Given the description of an element on the screen output the (x, y) to click on. 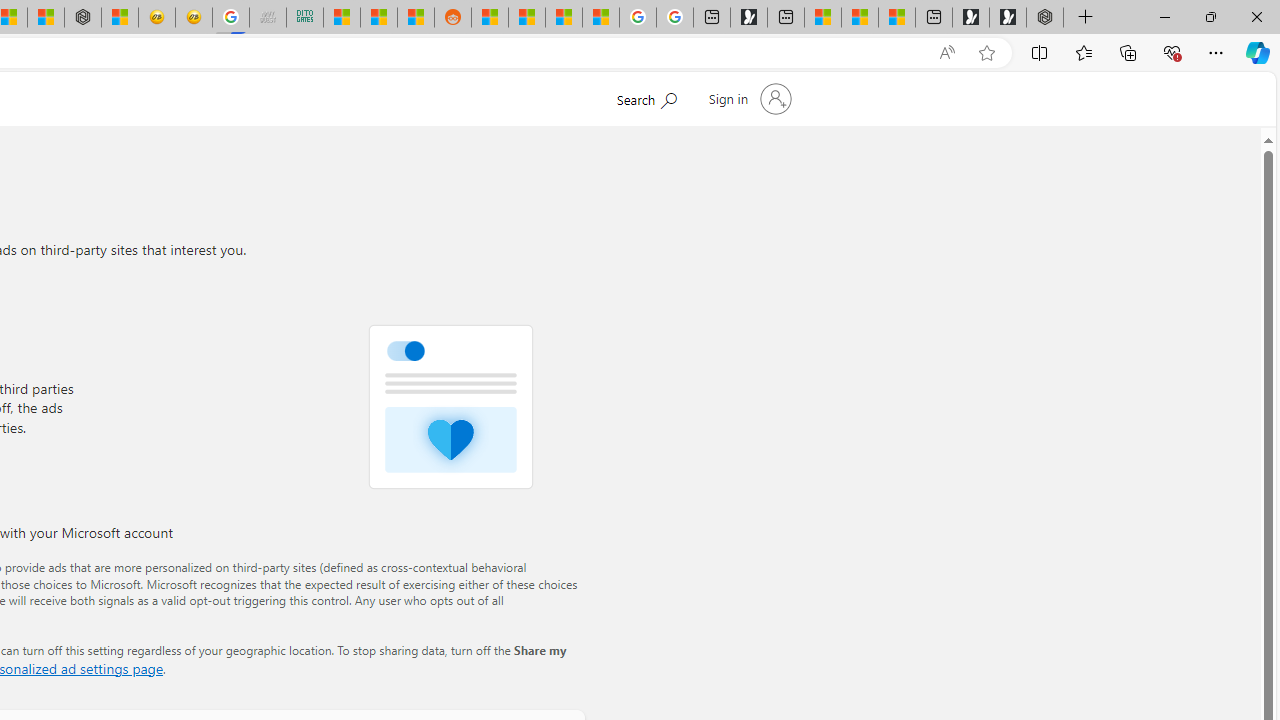
Navy Quest (267, 17)
MSNBC - MSN (341, 17)
DITOGAMES AG Imprint (304, 17)
R******* | Trusted Community Engagement and Contributions (490, 17)
Microsoft Start Gaming (748, 17)
